Given the description of an element on the screen output the (x, y) to click on. 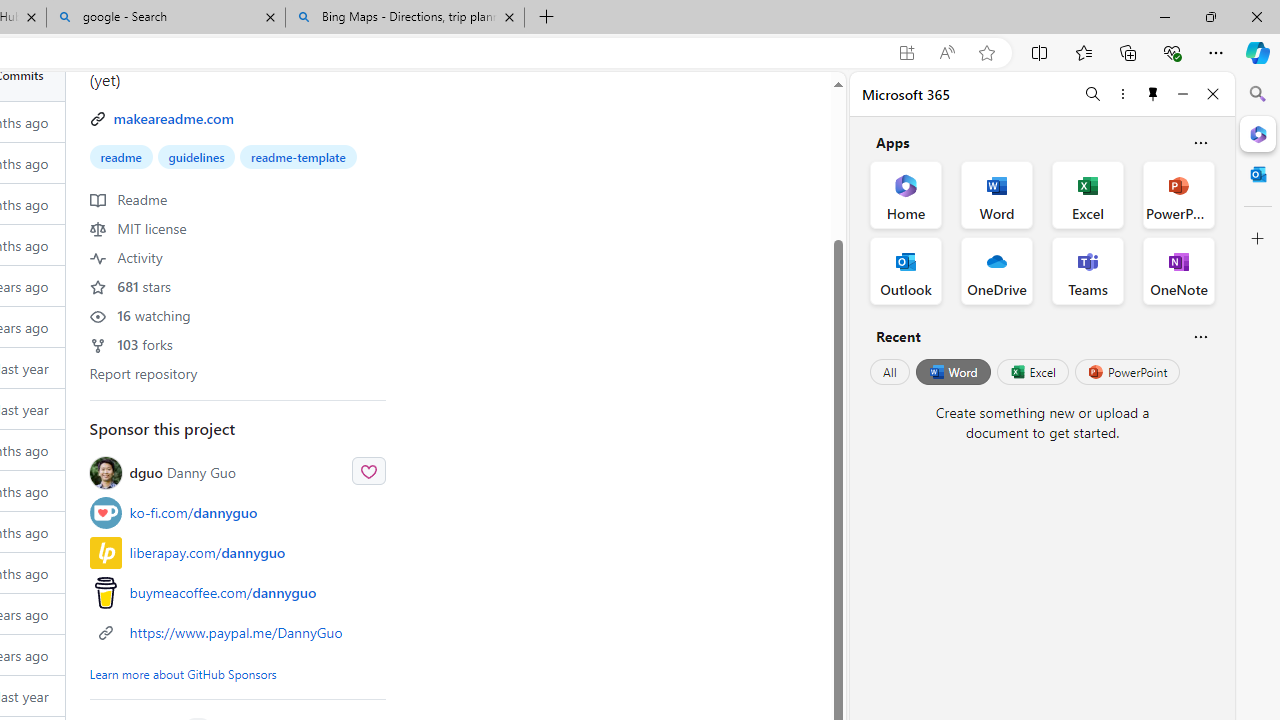
buymeacoffee.com/dannyguo (237, 592)
Unpin side pane (1153, 93)
103 forks (130, 344)
681 stars (130, 285)
